Given the description of an element on the screen output the (x, y) to click on. 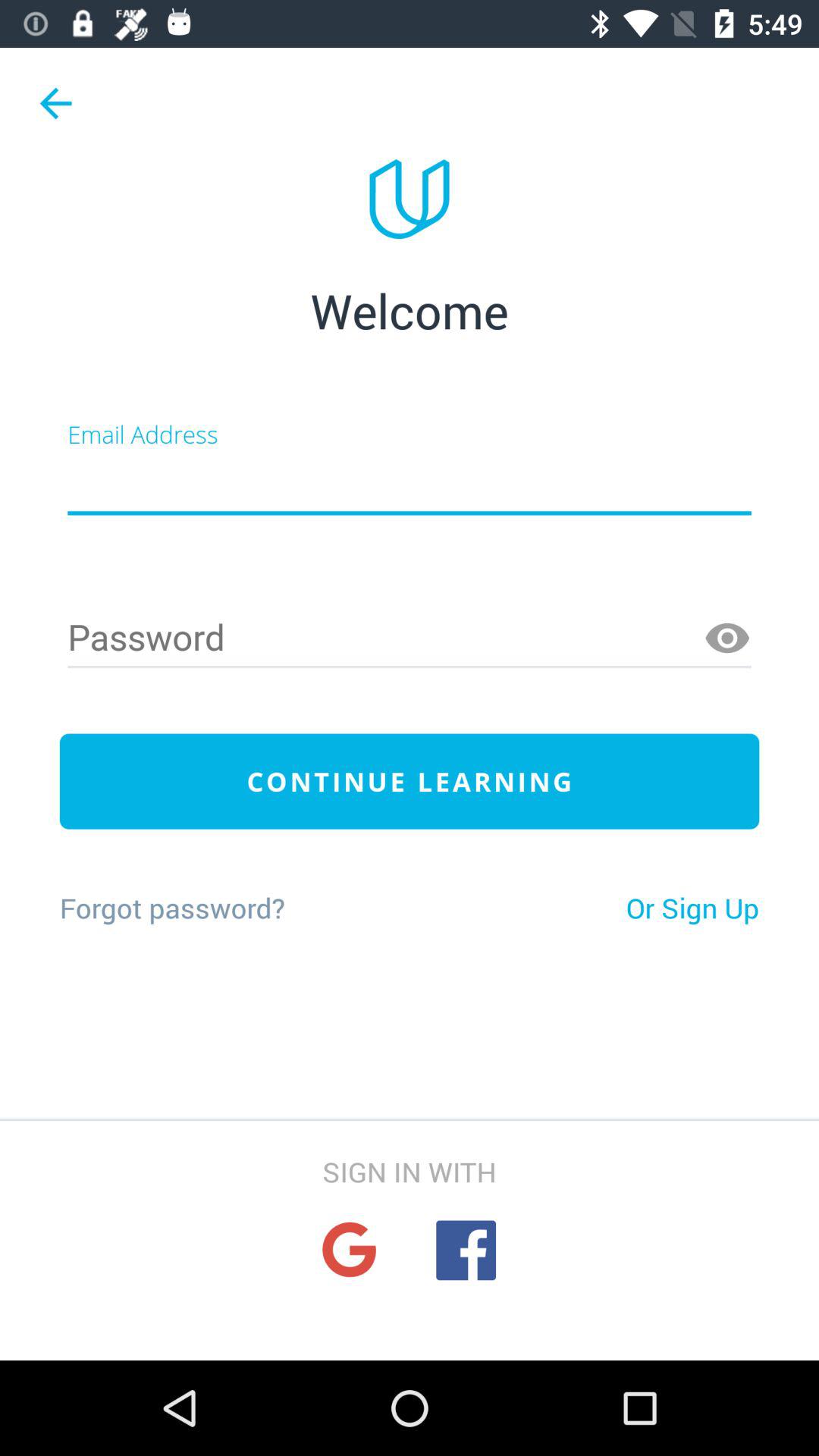
log in with facebook (465, 1250)
